Given the description of an element on the screen output the (x, y) to click on. 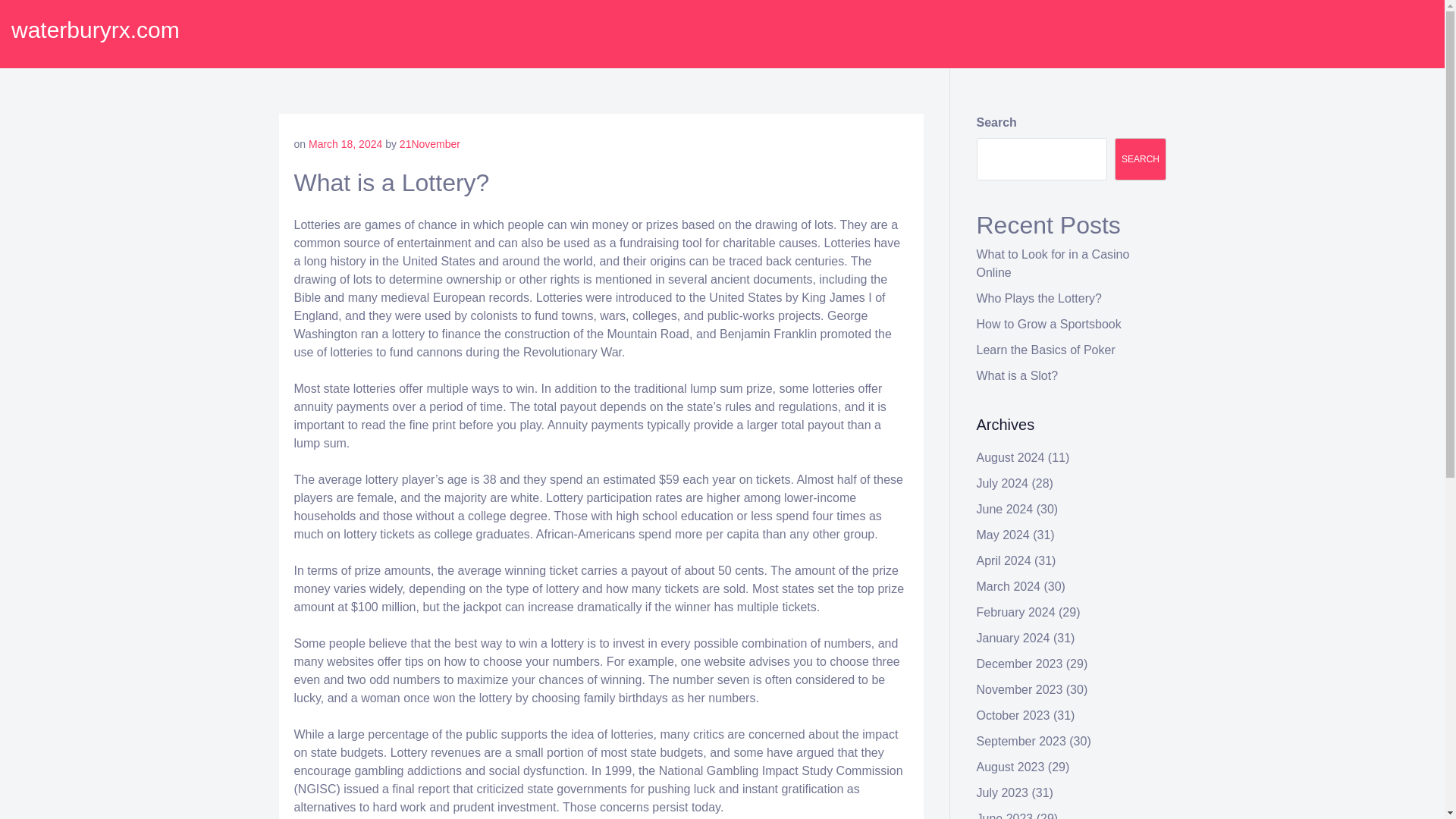
June 2024 (1004, 508)
March 2024 (1008, 585)
What to Look for in a Casino Online (1052, 263)
August 2024 (1010, 457)
waterburyrx.com (95, 29)
21November (429, 143)
SEARCH (1140, 159)
May 2024 (1002, 534)
February 2024 (1015, 612)
Who Plays the Lottery? (1039, 297)
